Given the description of an element on the screen output the (x, y) to click on. 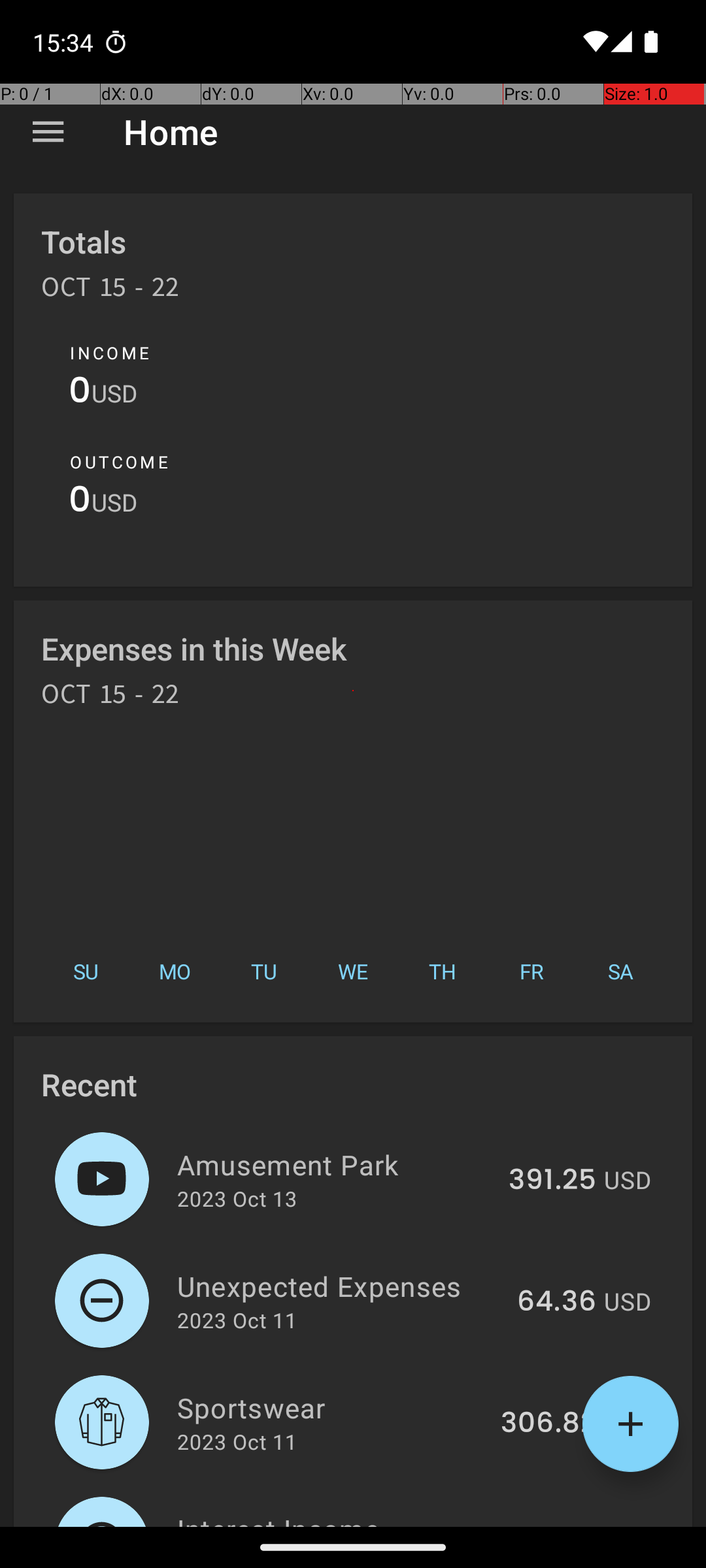
Amusement Park Element type: android.widget.TextView (335, 1164)
391.25 Element type: android.widget.TextView (551, 1180)
Unexpected Expenses Element type: android.widget.TextView (339, 1285)
64.36 Element type: android.widget.TextView (556, 1301)
306.82 Element type: android.widget.TextView (548, 1423)
51.62 Element type: android.widget.TextView (560, 1524)
